Given the description of an element on the screen output the (x, y) to click on. 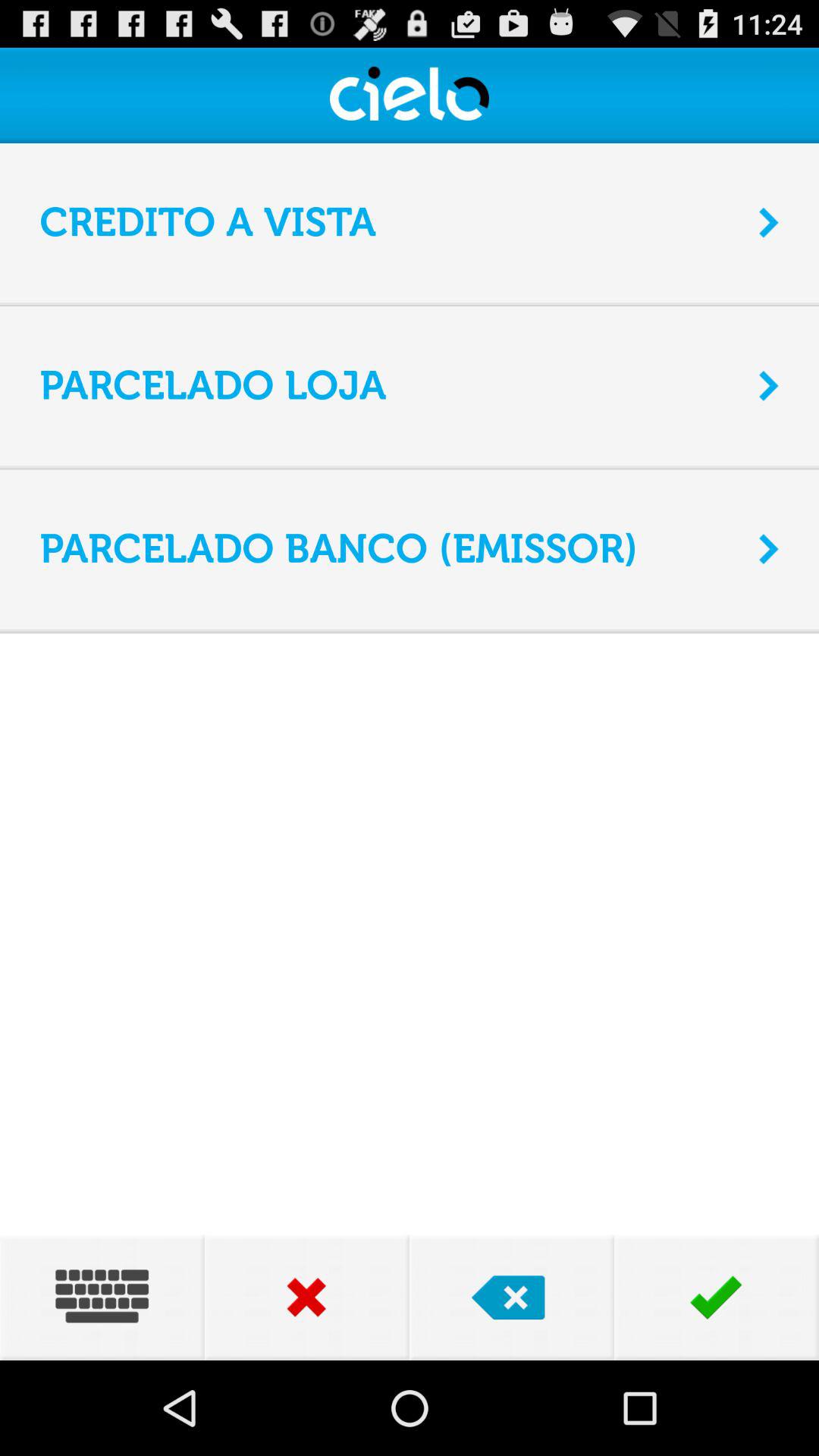
turn on icon on the right (769, 549)
